Given the description of an element on the screen output the (x, y) to click on. 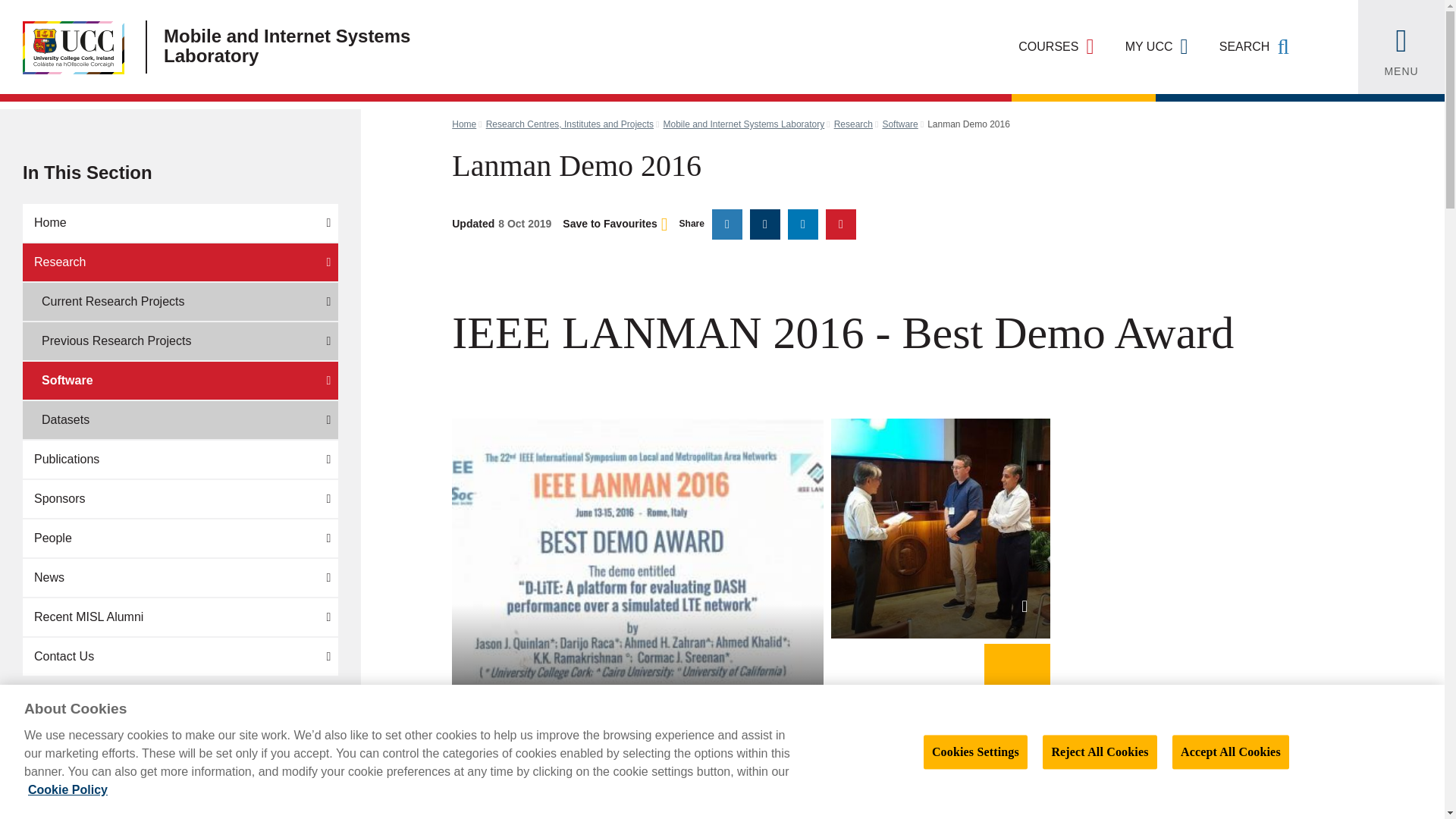
Facebook (764, 224)
Mobile and Internet Systems Laboratory (326, 46)
Linkedin (802, 224)
Email (840, 224)
Twitter (726, 224)
SEARCH (1254, 47)
UCC University College Cork (61, 47)
COURSES (1055, 47)
